Given the description of an element on the screen output the (x, y) to click on. 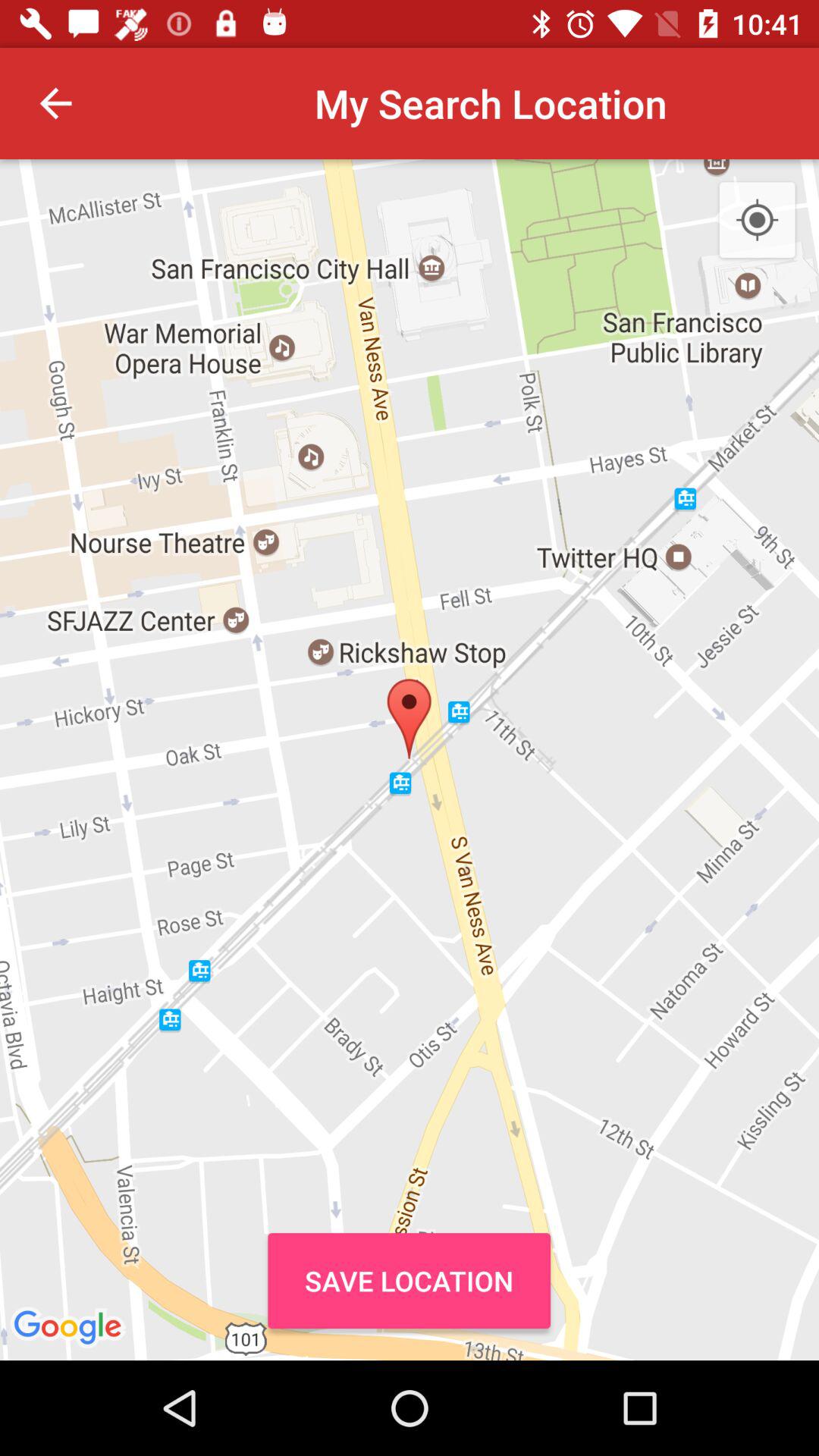
select item to the left of my search location (55, 103)
